Given the description of an element on the screen output the (x, y) to click on. 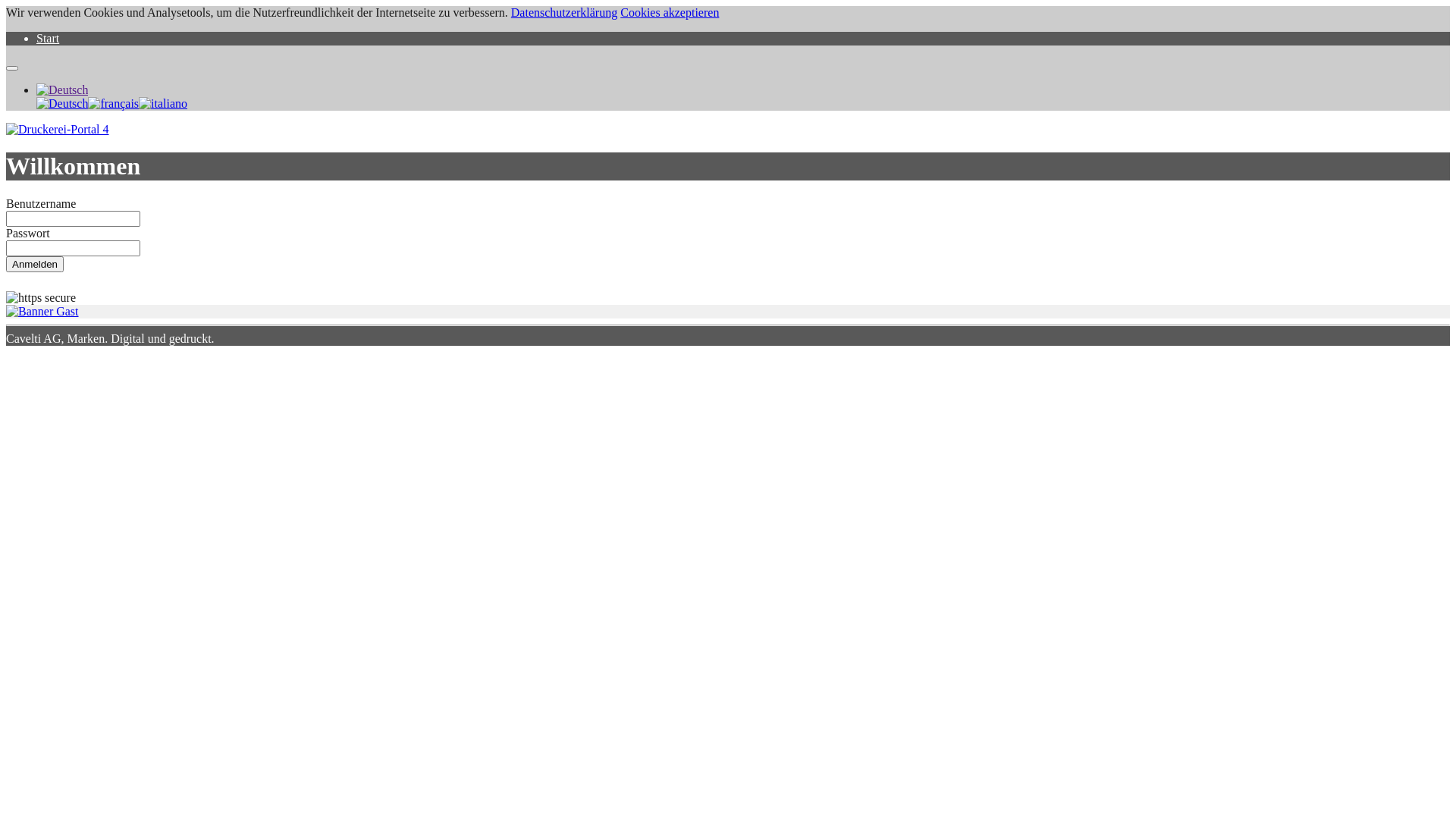
Anmelden Element type: text (34, 264)
Cookies akzeptieren Element type: text (669, 12)
Start Element type: text (47, 37)
